Given the description of an element on the screen output the (x, y) to click on. 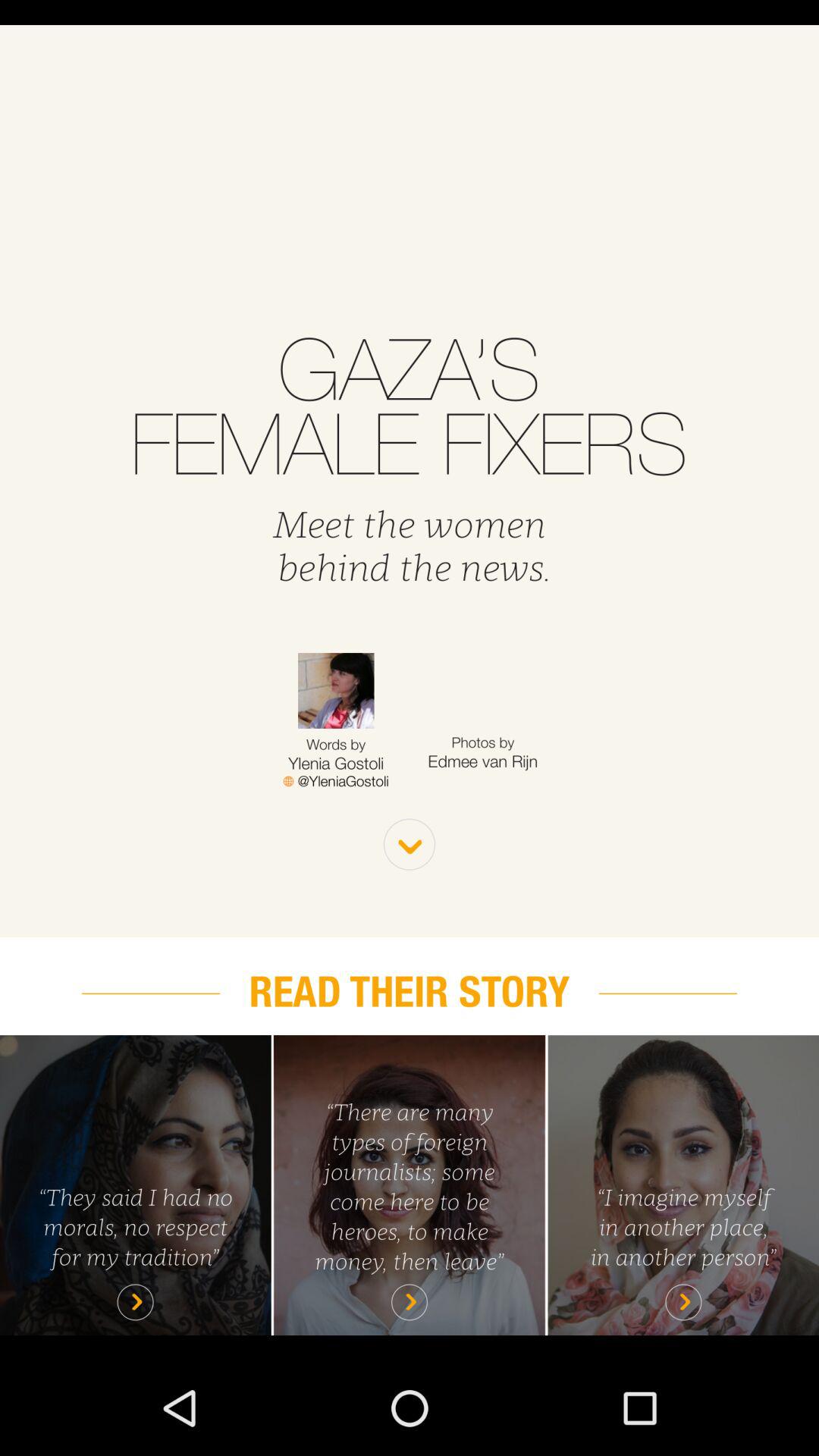
visit author 's social media (335, 781)
